Given the description of an element on the screen output the (x, y) to click on. 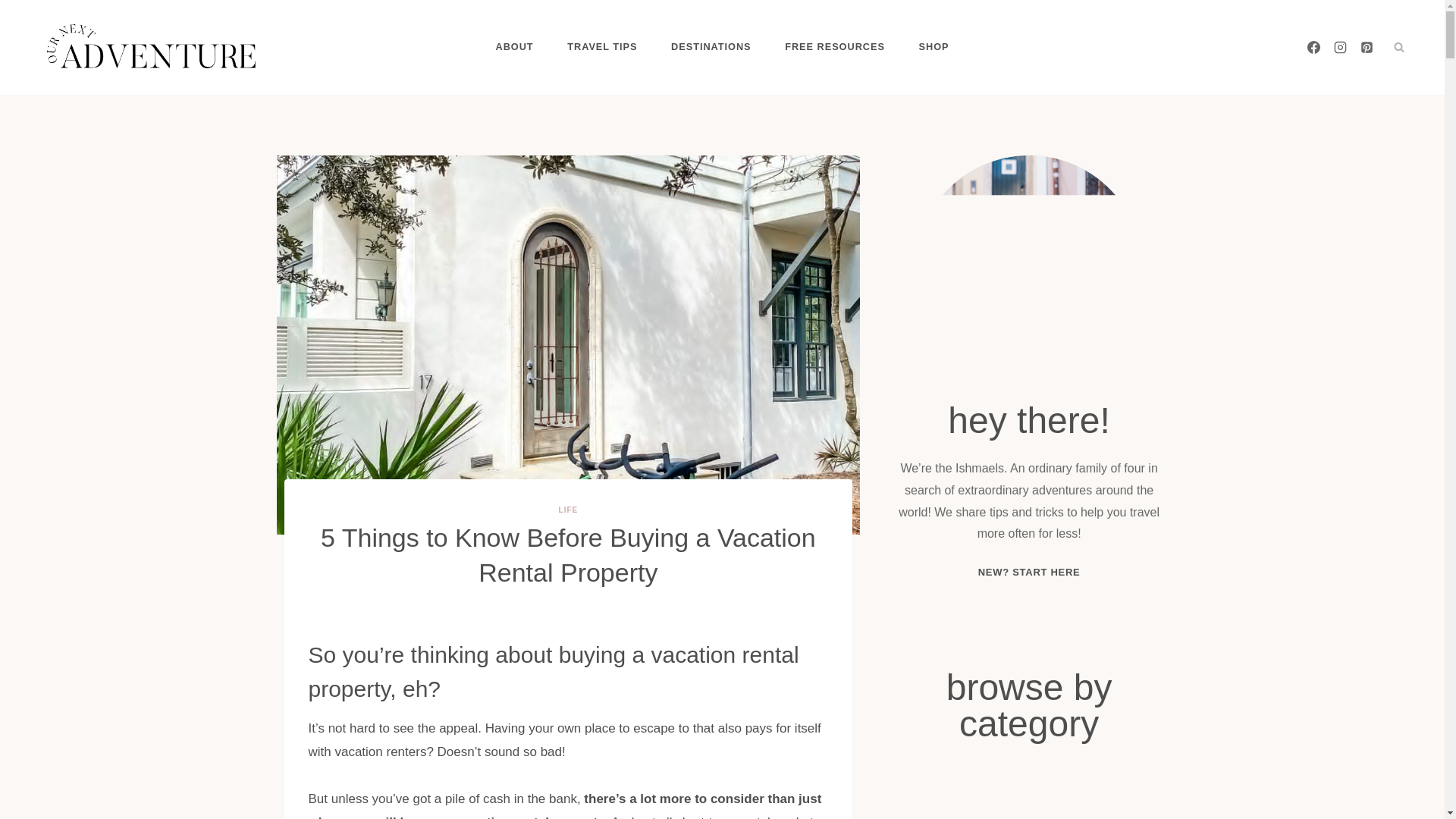
FREE RESOURCES (834, 46)
SHOP (933, 46)
ABOUT (514, 46)
LIFE (568, 510)
DESTINATIONS (710, 46)
TRAVEL TIPS (601, 46)
